Given the description of an element on the screen output the (x, y) to click on. 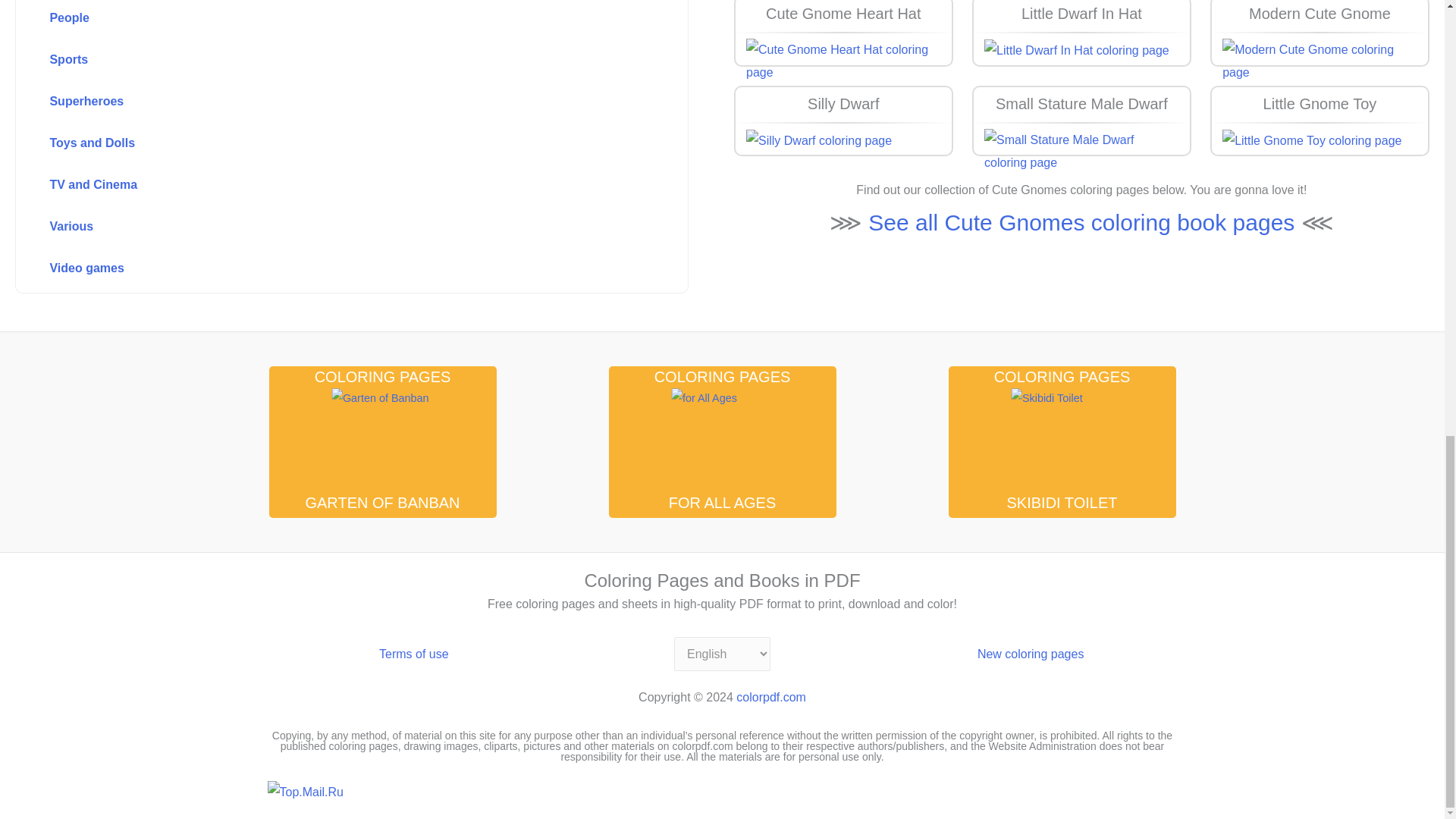
TV and Cinema (318, 185)
Video games (318, 268)
Sports (318, 60)
People (318, 19)
Various (318, 227)
Superheroes (318, 101)
People coloring pages (318, 19)
Toys and Dolls (318, 143)
TV and Cinema coloring pages (318, 185)
Sports coloring pages (318, 60)
Superheroes coloring pages (318, 101)
Toys and Dolls coloring pages (318, 143)
